Given the description of an element on the screen output the (x, y) to click on. 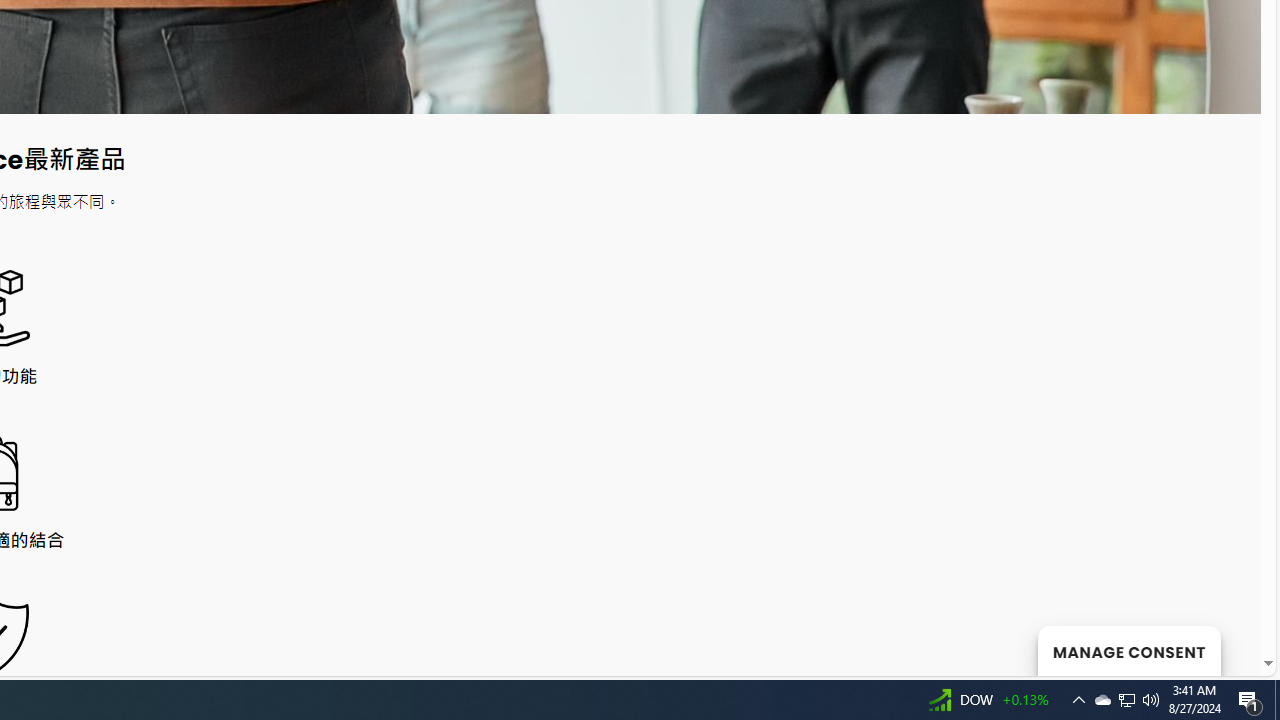
MANAGE CONSENT (1128, 650)
